Given the description of an element on the screen output the (x, y) to click on. 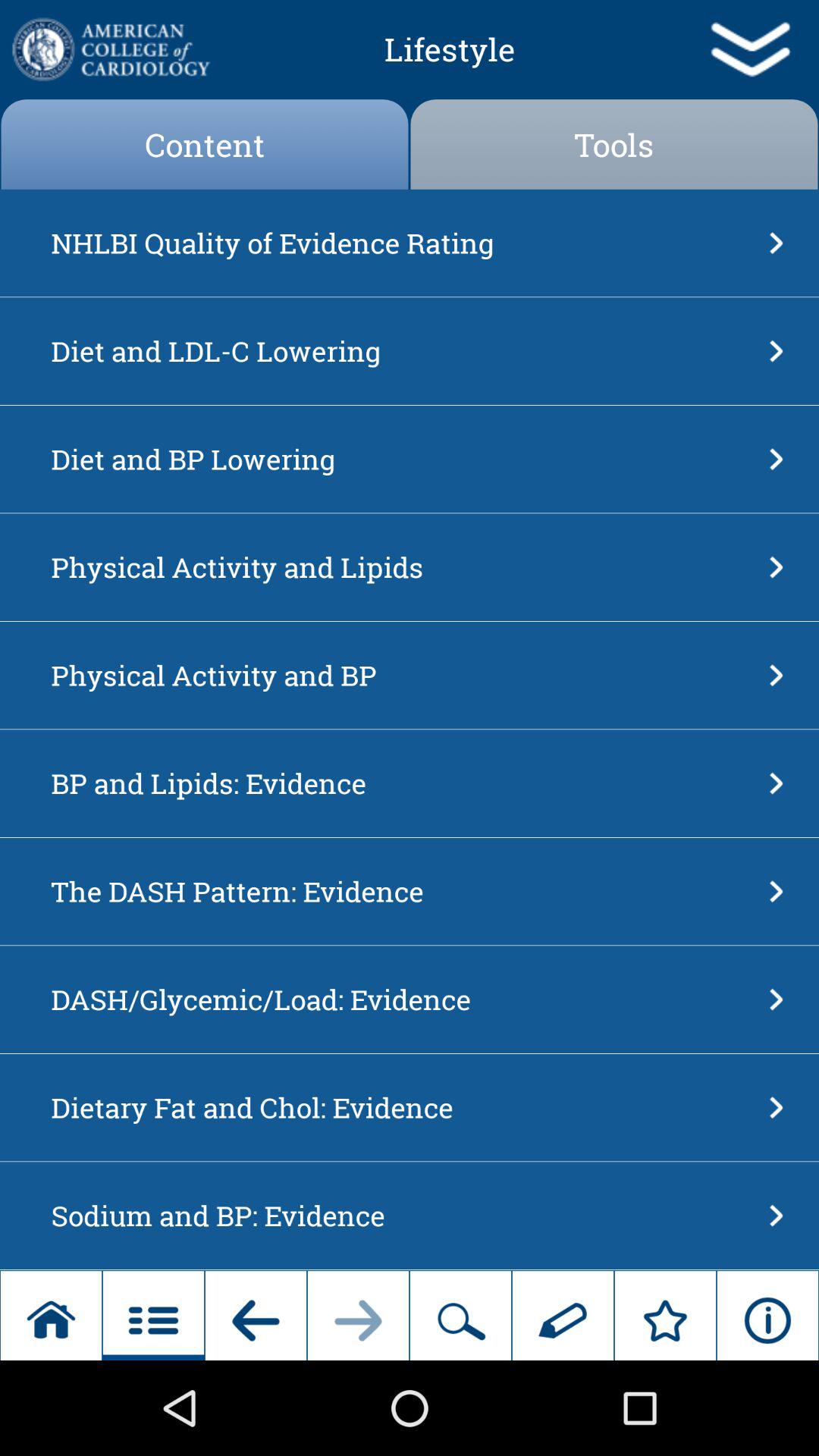
select the app below the bp and lipids app (405, 891)
